Given the description of an element on the screen output the (x, y) to click on. 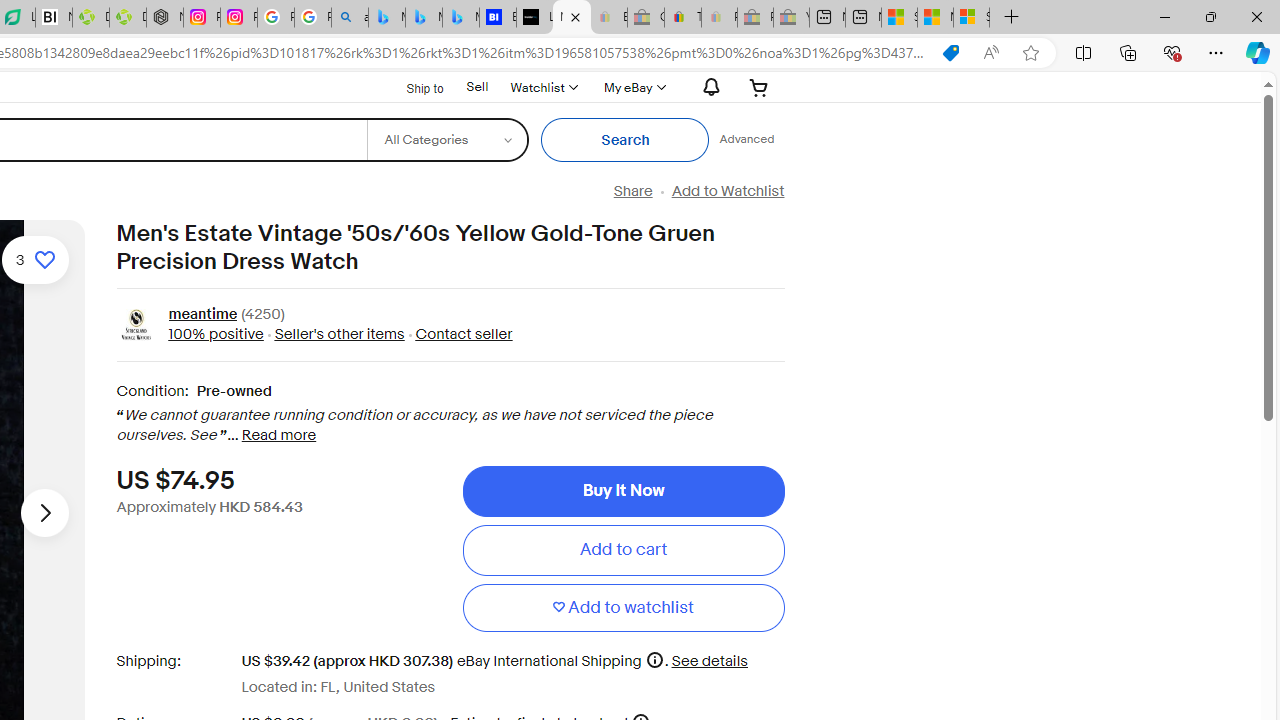
100% positive (215, 334)
Buy It Now (623, 490)
(4250) (262, 315)
100% positive (215, 334)
Watchlist (543, 87)
Descarga Driver Updater (127, 17)
Add to watchlist (623, 607)
  Contact seller (458, 334)
Expand Cart (759, 87)
AutomationID: gh-eb-Alerts (708, 87)
Next image - Item images thumbnails (44, 512)
